Given the description of an element on the screen output the (x, y) to click on. 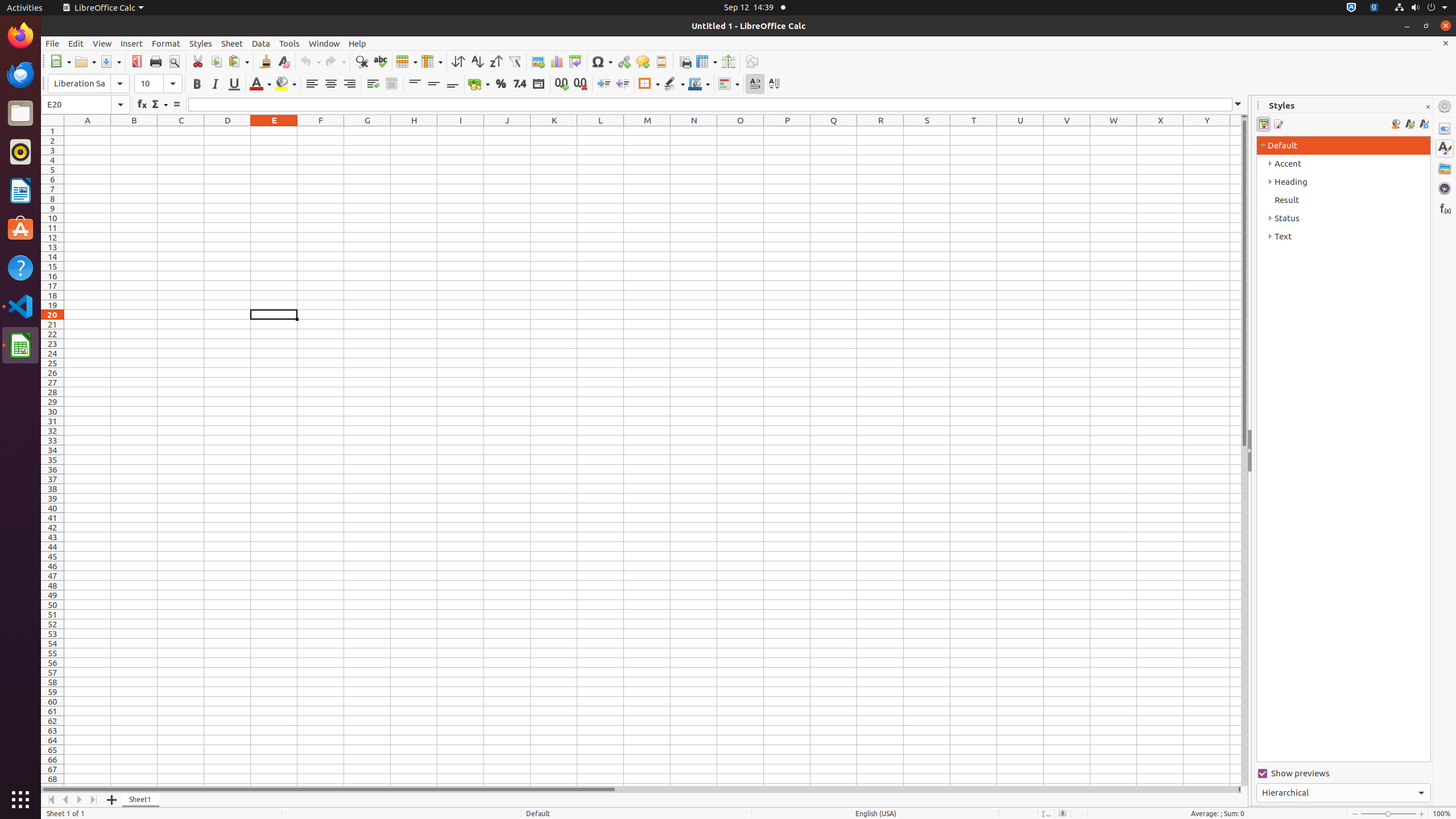
New Element type: push-button (59, 61)
